Given the description of an element on the screen output the (x, y) to click on. 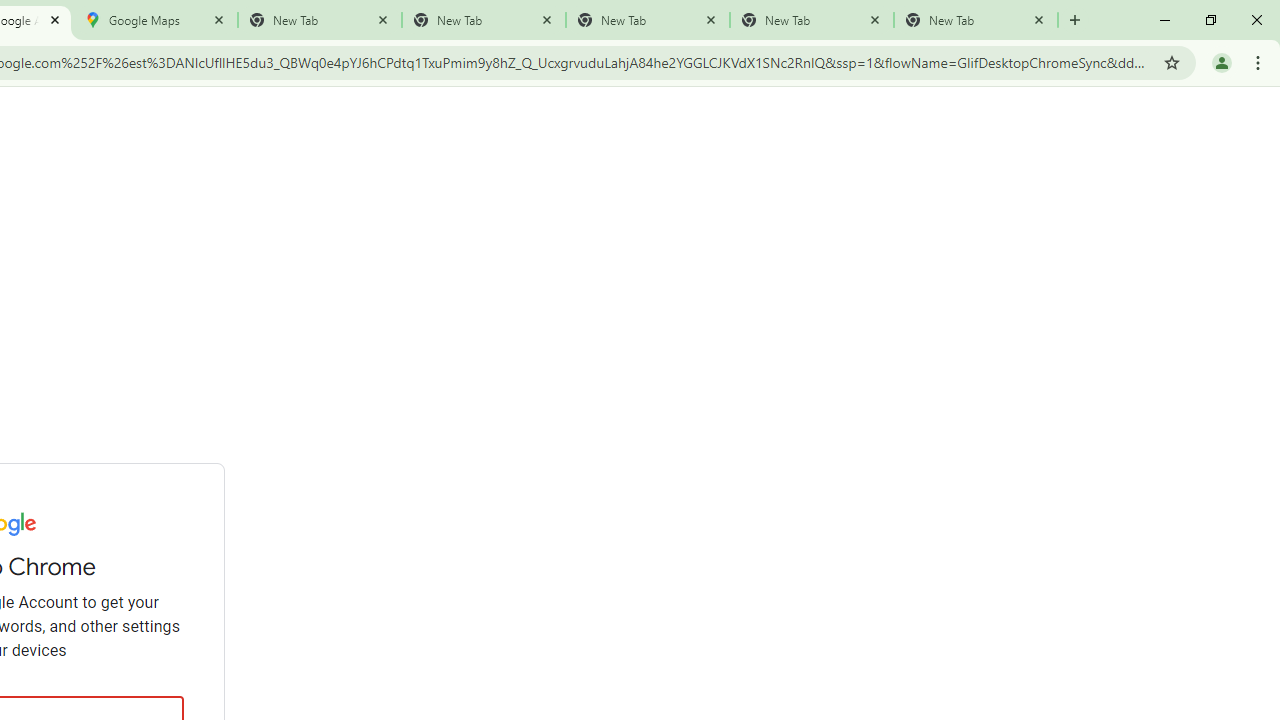
Google Maps (156, 20)
You (1221, 62)
Restore (1210, 20)
Minimize (1165, 20)
Bookmark this tab (1171, 62)
New Tab (975, 20)
New Tab (1075, 20)
Chrome (1260, 62)
